Given the description of an element on the screen output the (x, y) to click on. 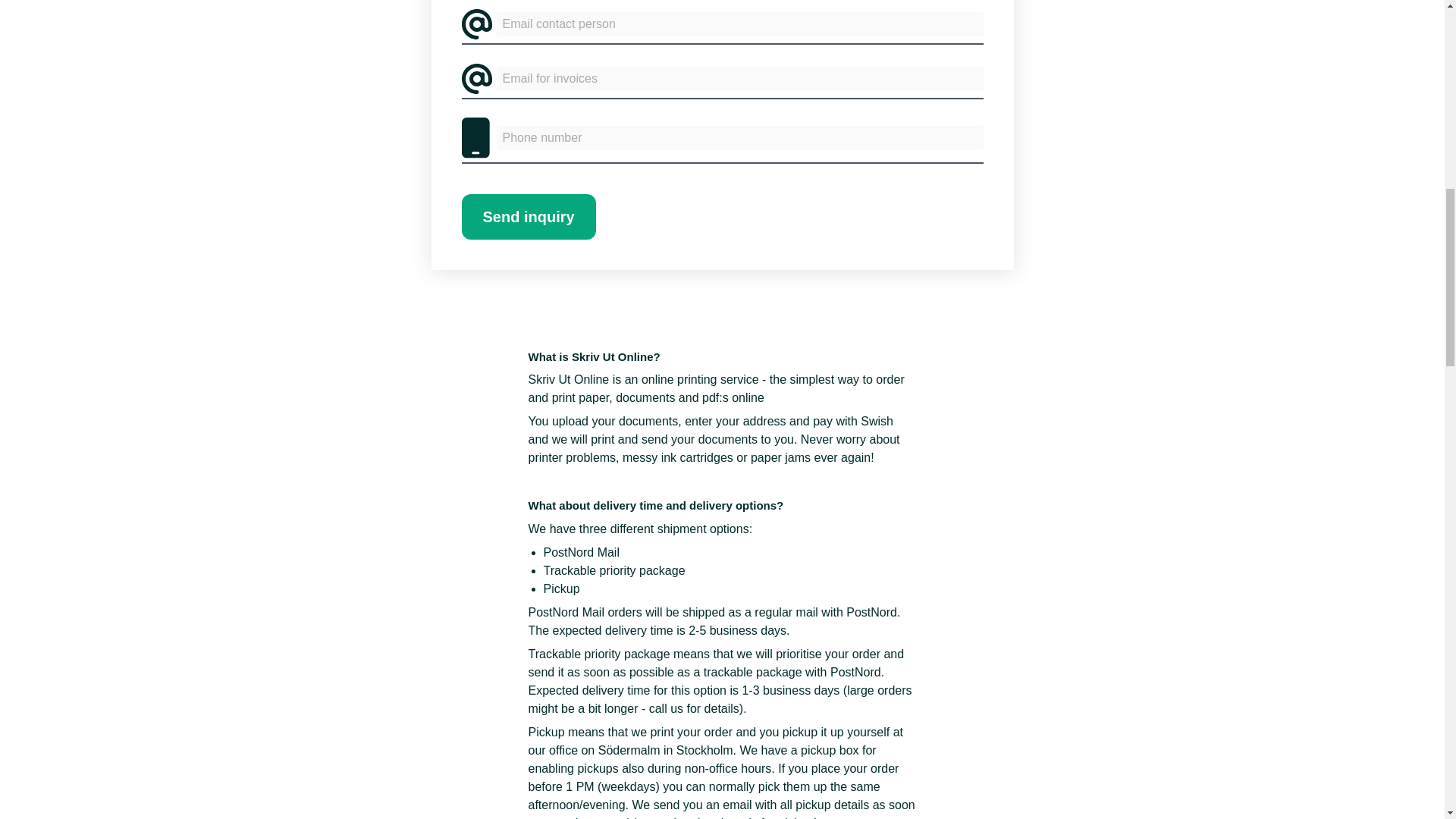
Send inquiry (528, 216)
